Given the description of an element on the screen output the (x, y) to click on. 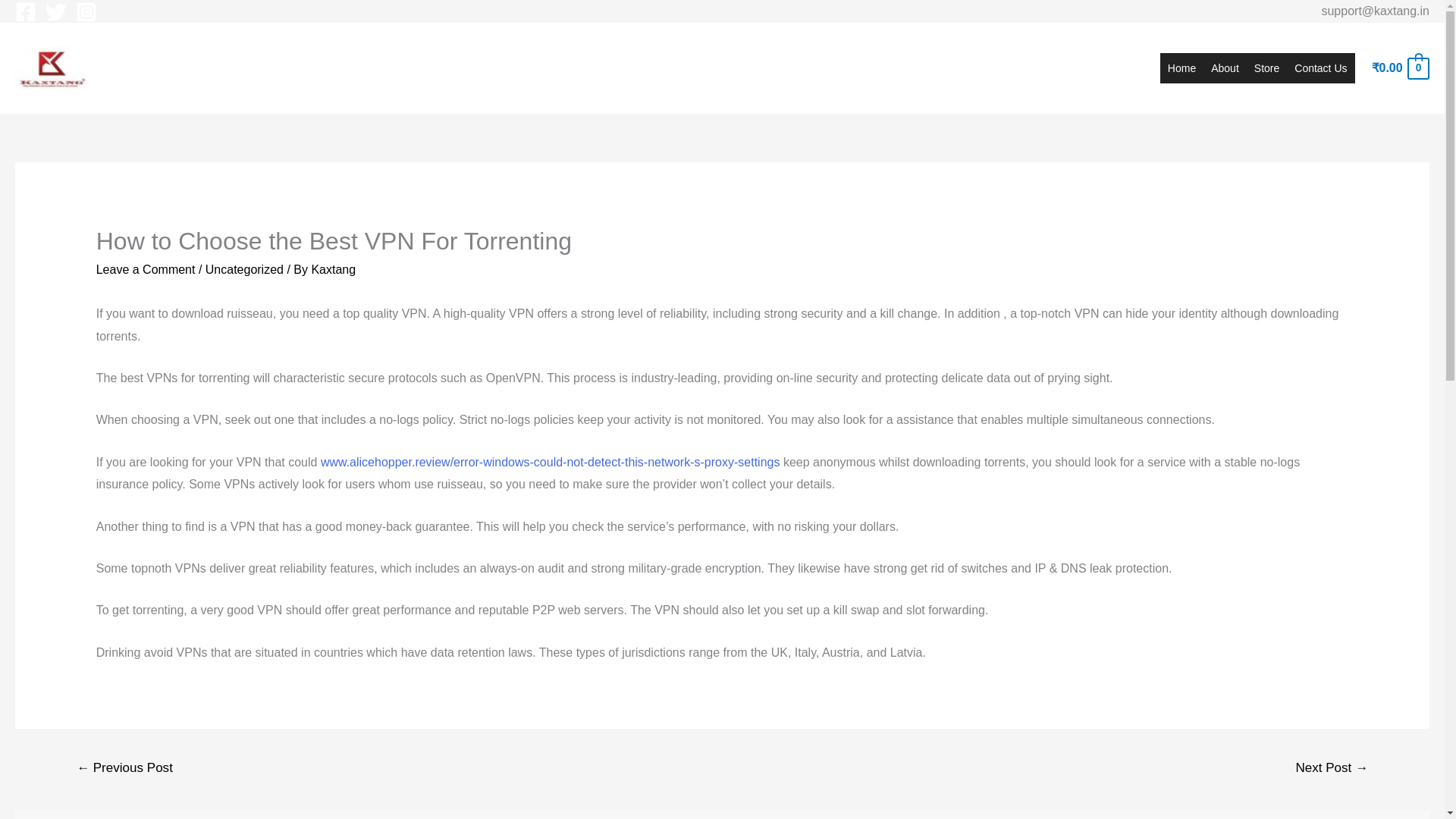
Uncategorized (244, 269)
View your shopping cart (1399, 67)
Leave a Comment (145, 269)
Store (1266, 68)
Contact Us (1320, 68)
Home (1182, 68)
Kaxtang (333, 269)
View all posts by Kaxtang (333, 269)
About (1225, 68)
